Given the description of an element on the screen output the (x, y) to click on. 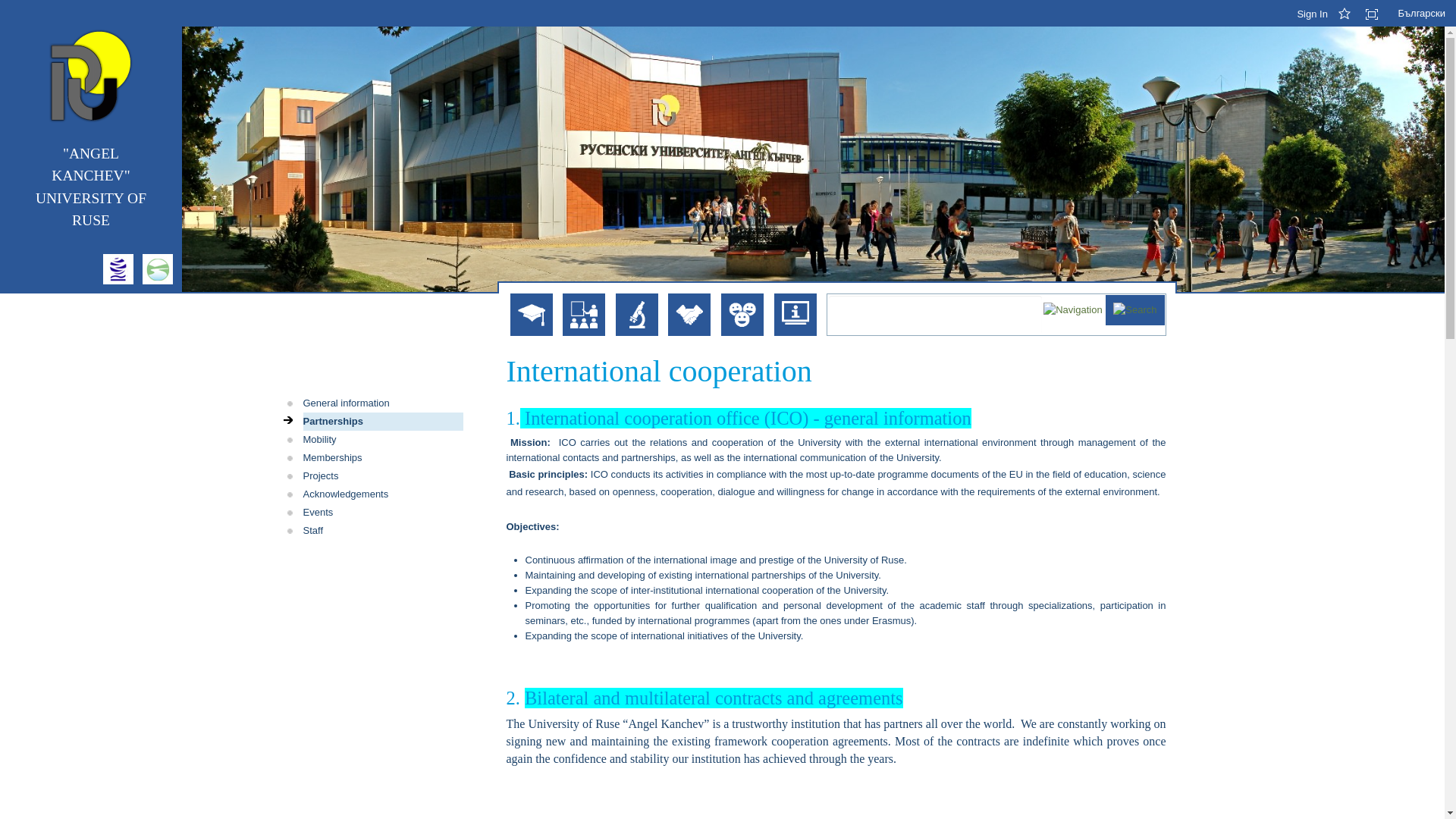
Focus on Content (1377, 14)
Mobility (382, 439)
General information (382, 402)
Search (1134, 308)
Acknowledgements (382, 494)
Staff (382, 530)
Navigation (1074, 308)
Partnerships (382, 421)
Projects (382, 475)
"ANGEL KANCHEV" UNIVERSITY OF RUSE (90, 186)
Memberships (382, 457)
Events (382, 512)
Sign In (1310, 14)
Search this site (935, 314)
